Given the description of an element on the screen output the (x, y) to click on. 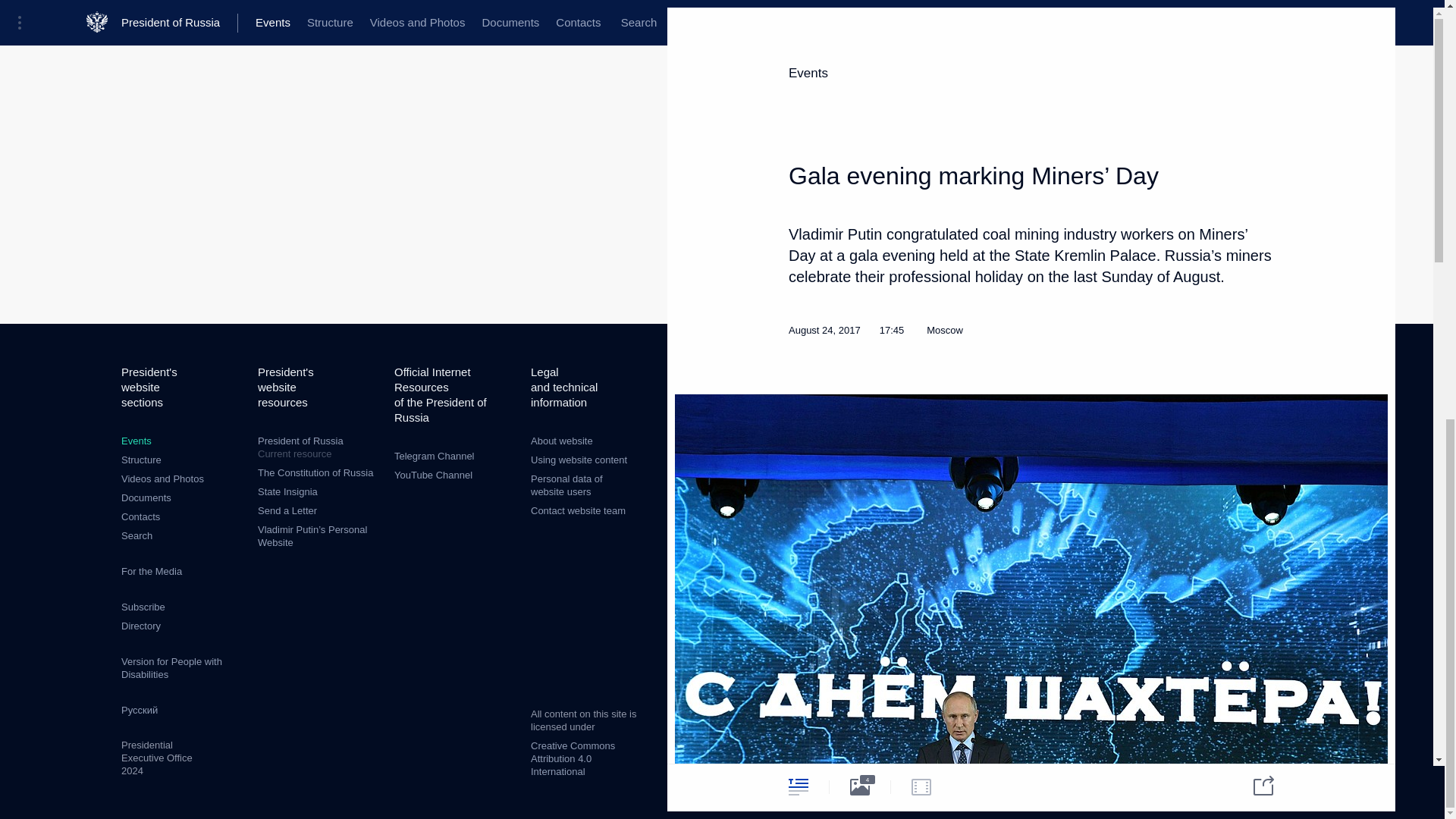
State Insignia (287, 491)
The Constitution of Russia (314, 472)
Events (135, 440)
YouTube Channel (317, 447)
Directory (432, 474)
Search (140, 625)
Documents (136, 535)
Videos and Photos (145, 497)
Telegram Channel (161, 478)
